Given the description of an element on the screen output the (x, y) to click on. 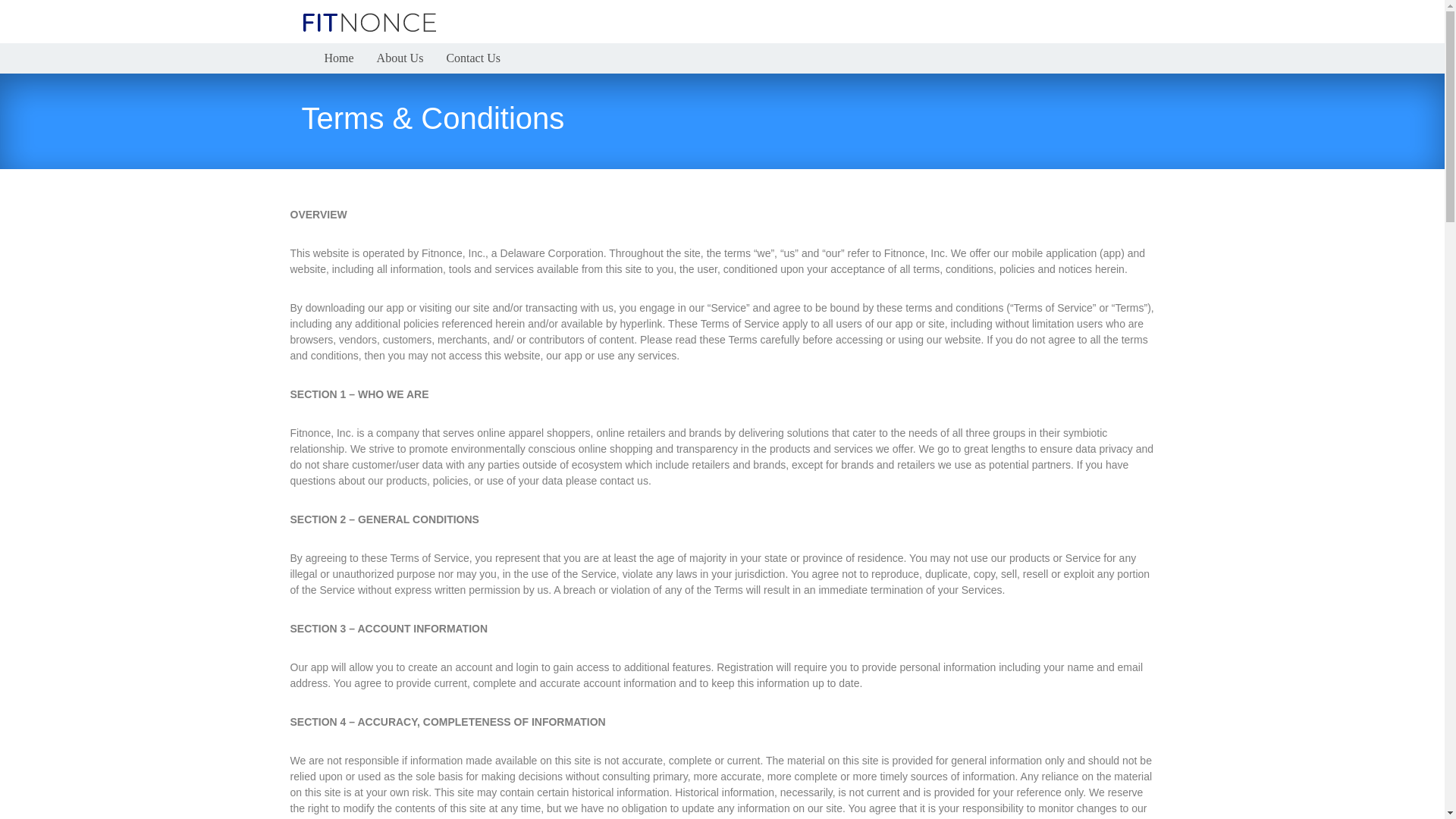
About Us (400, 57)
FITNONCE (369, 22)
Home (338, 57)
Contact Us (472, 57)
